Given the description of an element on the screen output the (x, y) to click on. 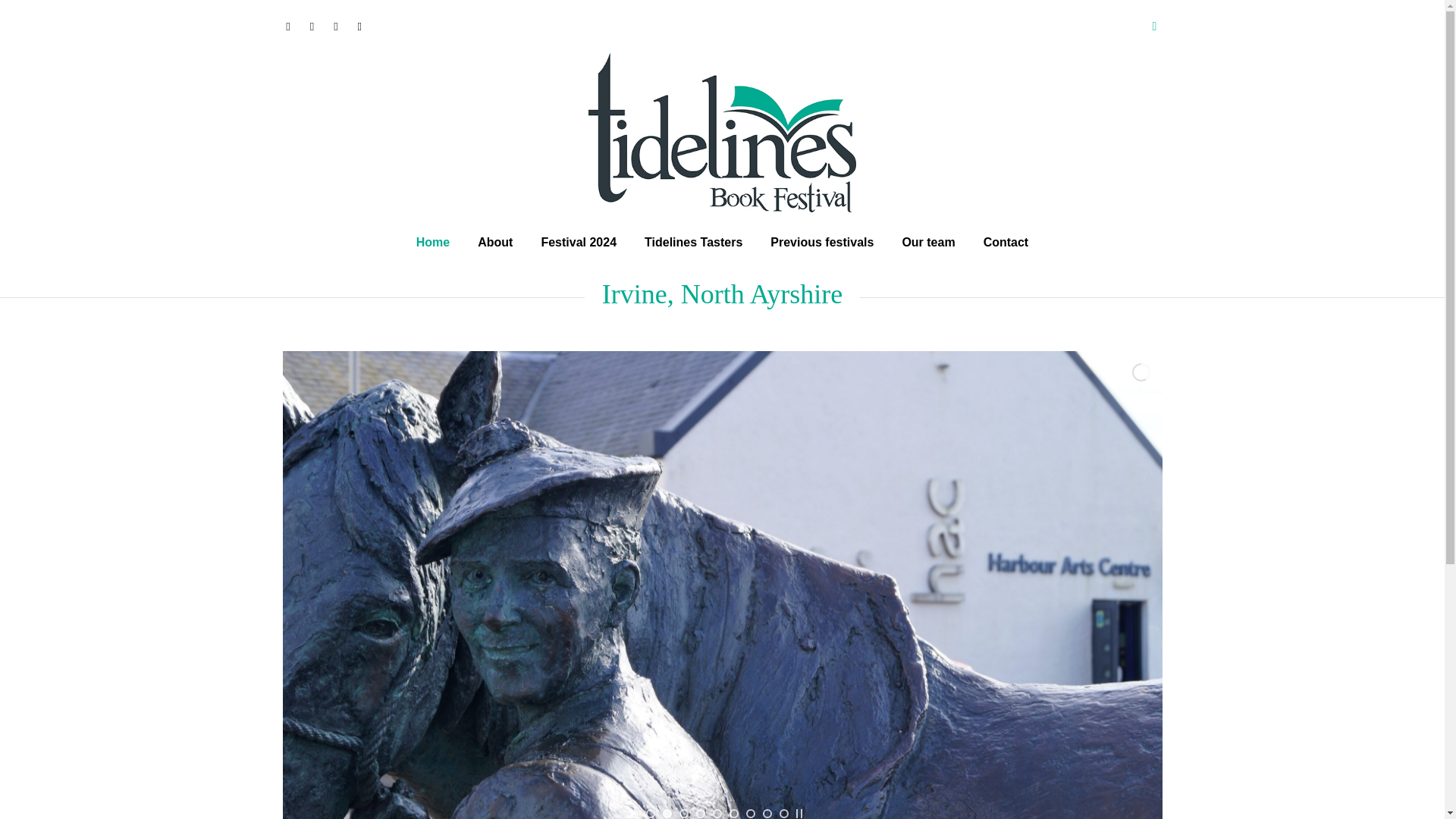
Instagram (311, 25)
Tidelines Tasters (692, 242)
Home (433, 242)
Festival 2024 (578, 242)
Facebook (288, 25)
About (494, 242)
Previous festivals (821, 242)
YouTube (359, 25)
Our team (928, 242)
Twitter (335, 25)
Contact (1005, 242)
